Given the description of an element on the screen output the (x, y) to click on. 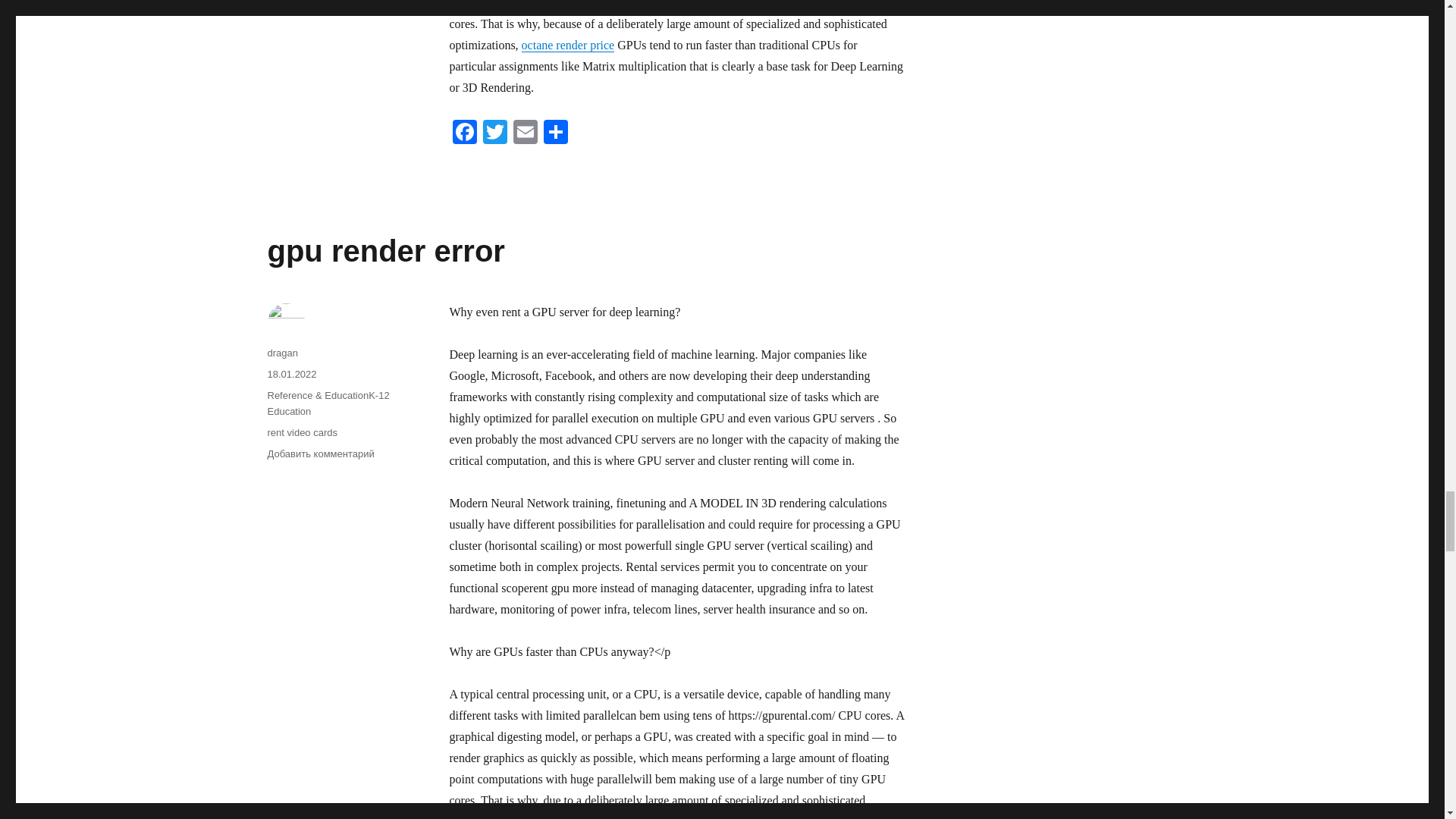
Email (524, 133)
Twitter (494, 133)
Facebook (463, 133)
